Given the description of an element on the screen output the (x, y) to click on. 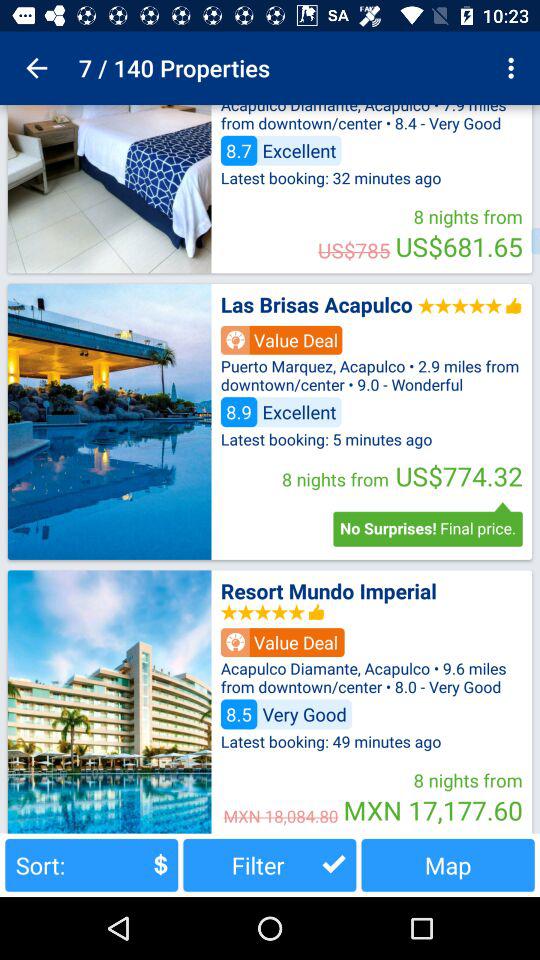
turn off the button to the left of map icon (269, 864)
